Given the description of an element on the screen output the (x, y) to click on. 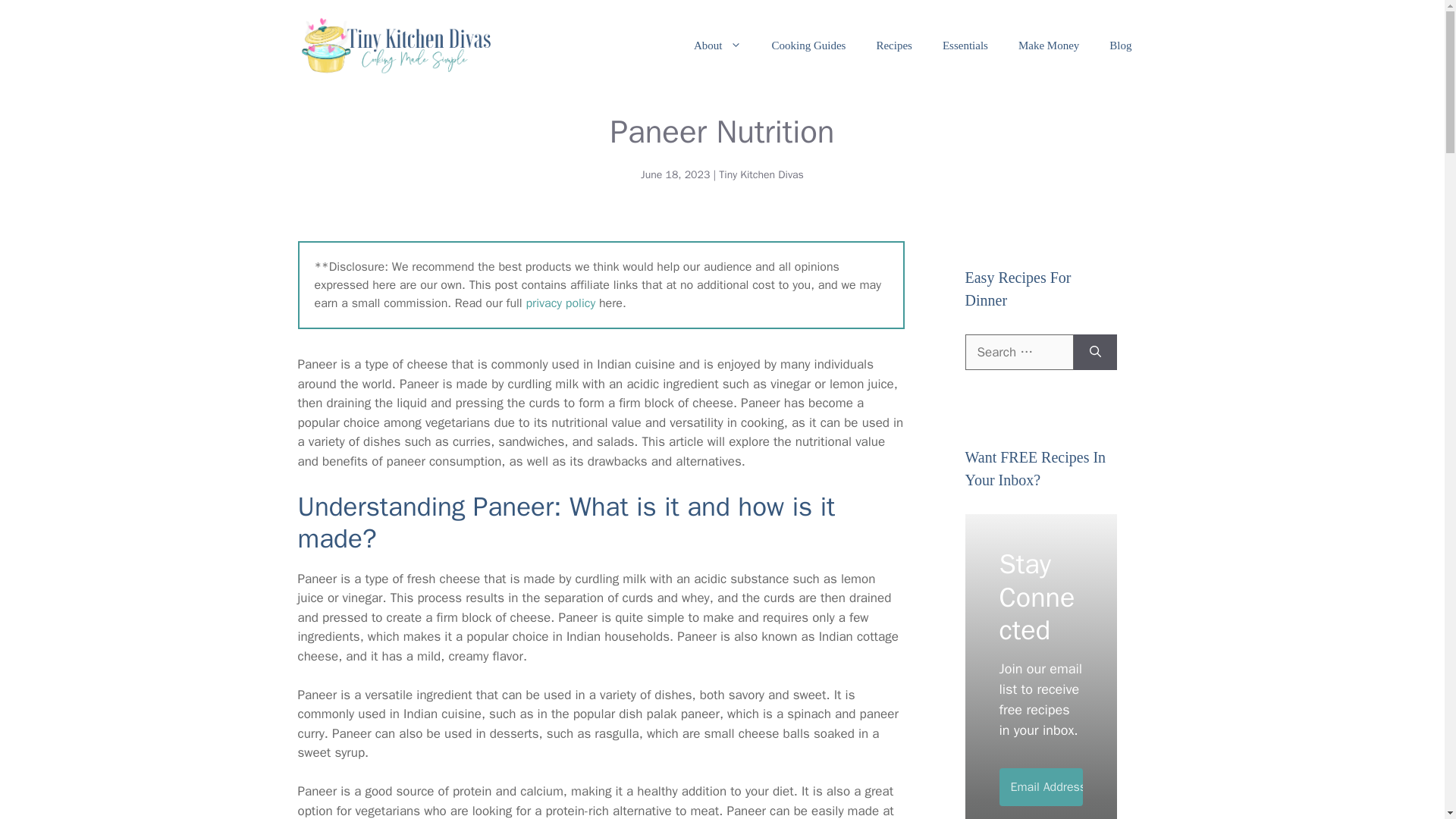
Search for: (1018, 352)
Recipes (893, 44)
Blog (1120, 44)
Essentials (965, 44)
Tiny Kitchen Divas (761, 174)
Cooking Guides (809, 44)
Make Money (1048, 44)
About (717, 44)
privacy policy (560, 303)
View all posts by Tiny Kitchen Divas (761, 174)
